Given the description of an element on the screen output the (x, y) to click on. 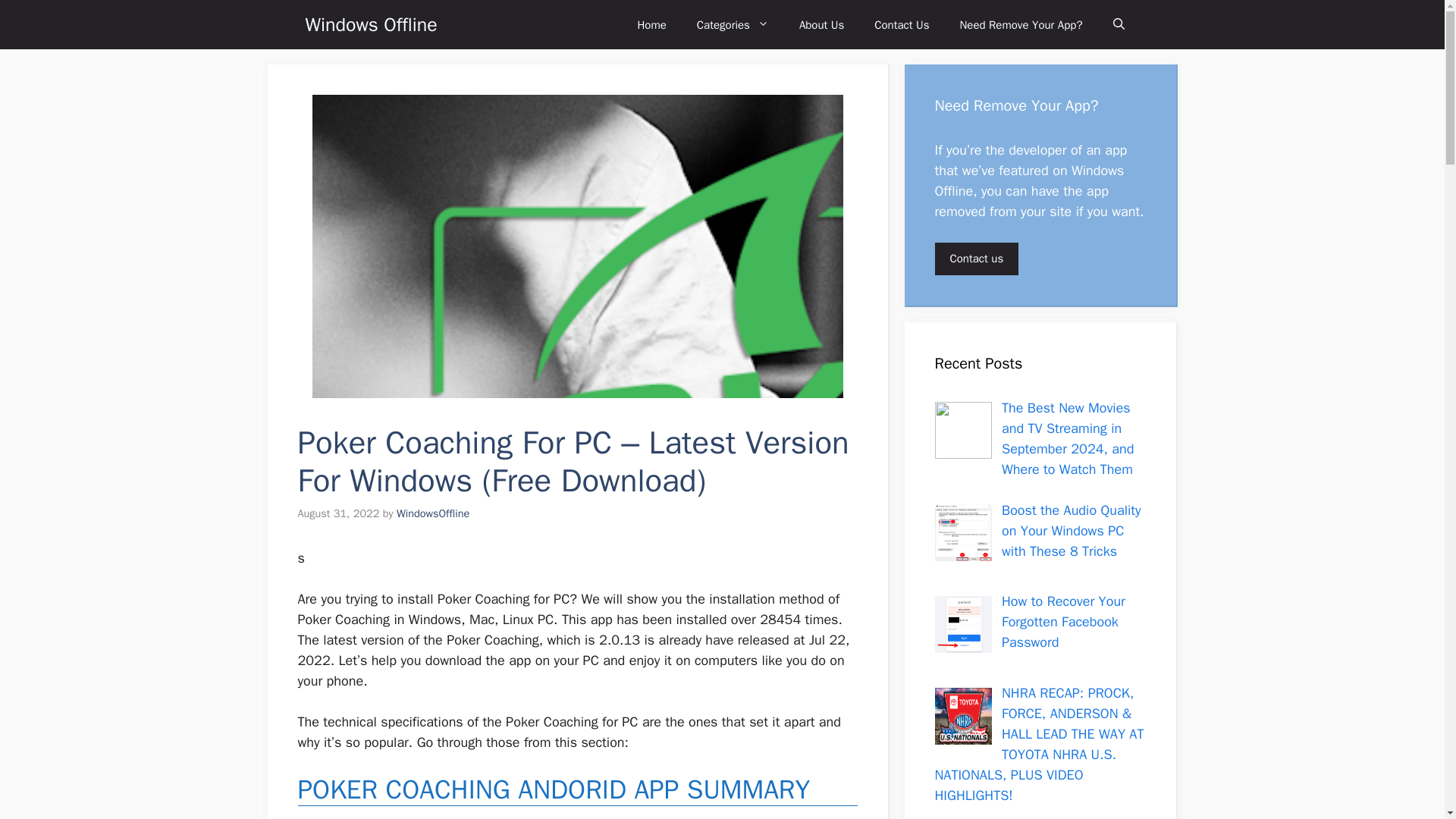
Categories (732, 23)
Home (651, 23)
About Us (821, 23)
WindowsOffline (432, 513)
Contact Us (901, 23)
Contact us (975, 258)
Need Remove Your App? (1020, 23)
Windows Offline (370, 24)
